Given the description of an element on the screen output the (x, y) to click on. 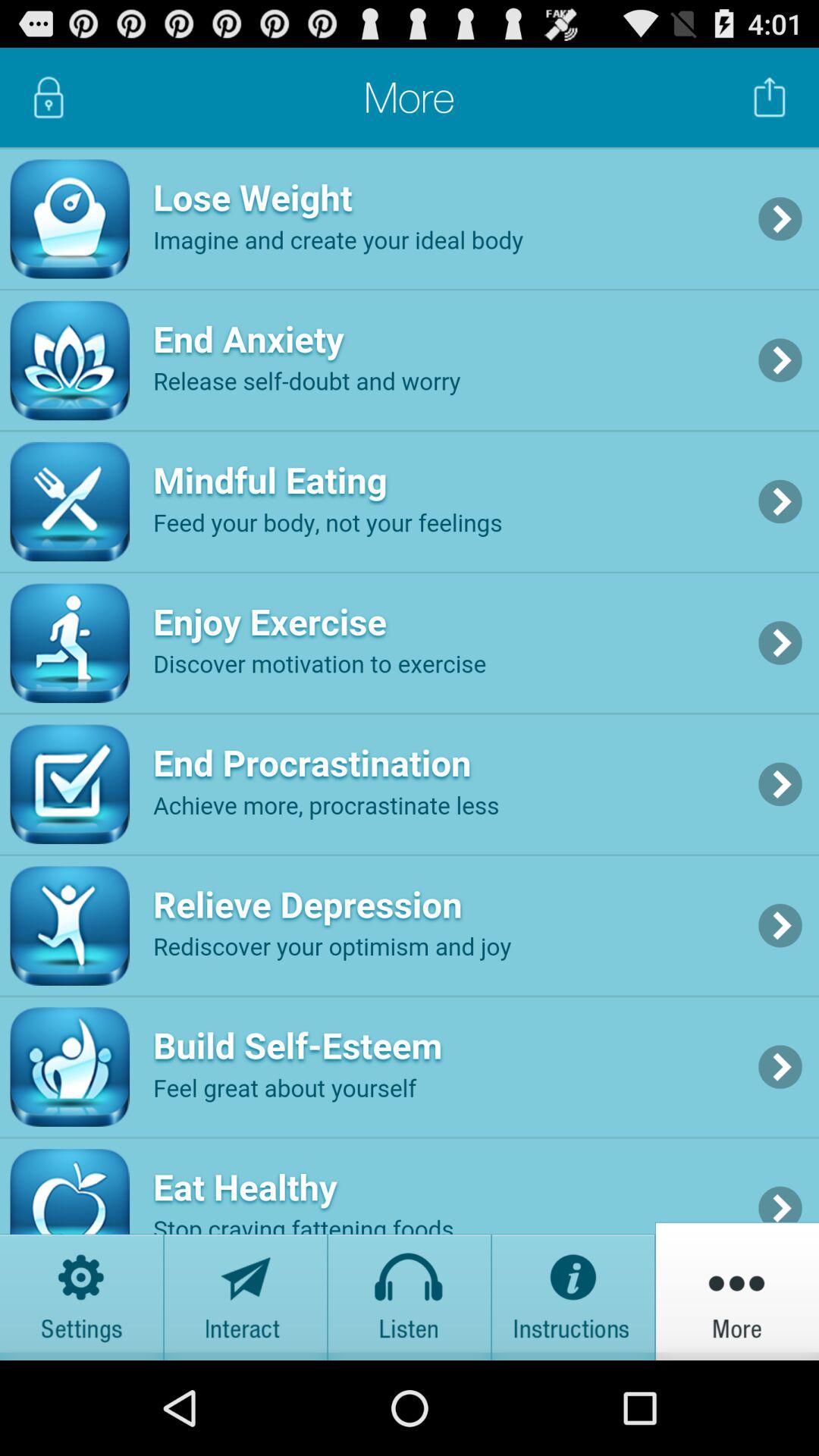
go to more button (737, 1290)
